Given the description of an element on the screen output the (x, y) to click on. 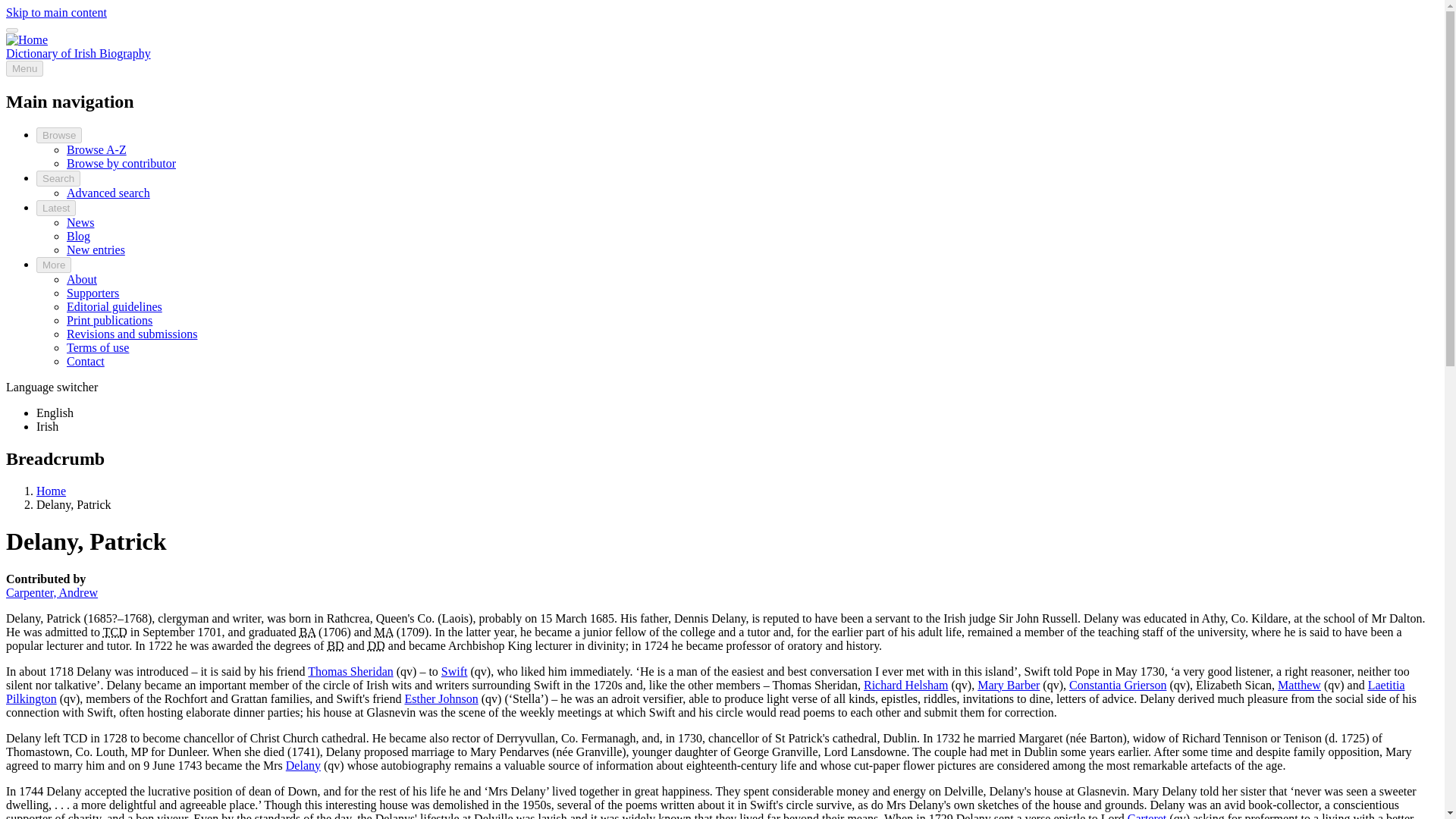
Terms of use (97, 347)
Carteret (1146, 815)
Revisions and submissions (131, 333)
Editorial guidelines (113, 306)
News feed (80, 222)
Bachelor of Arts (307, 631)
Swift (454, 670)
Information about our print publications (109, 319)
Search biographies (107, 192)
